Given the description of an element on the screen output the (x, y) to click on. 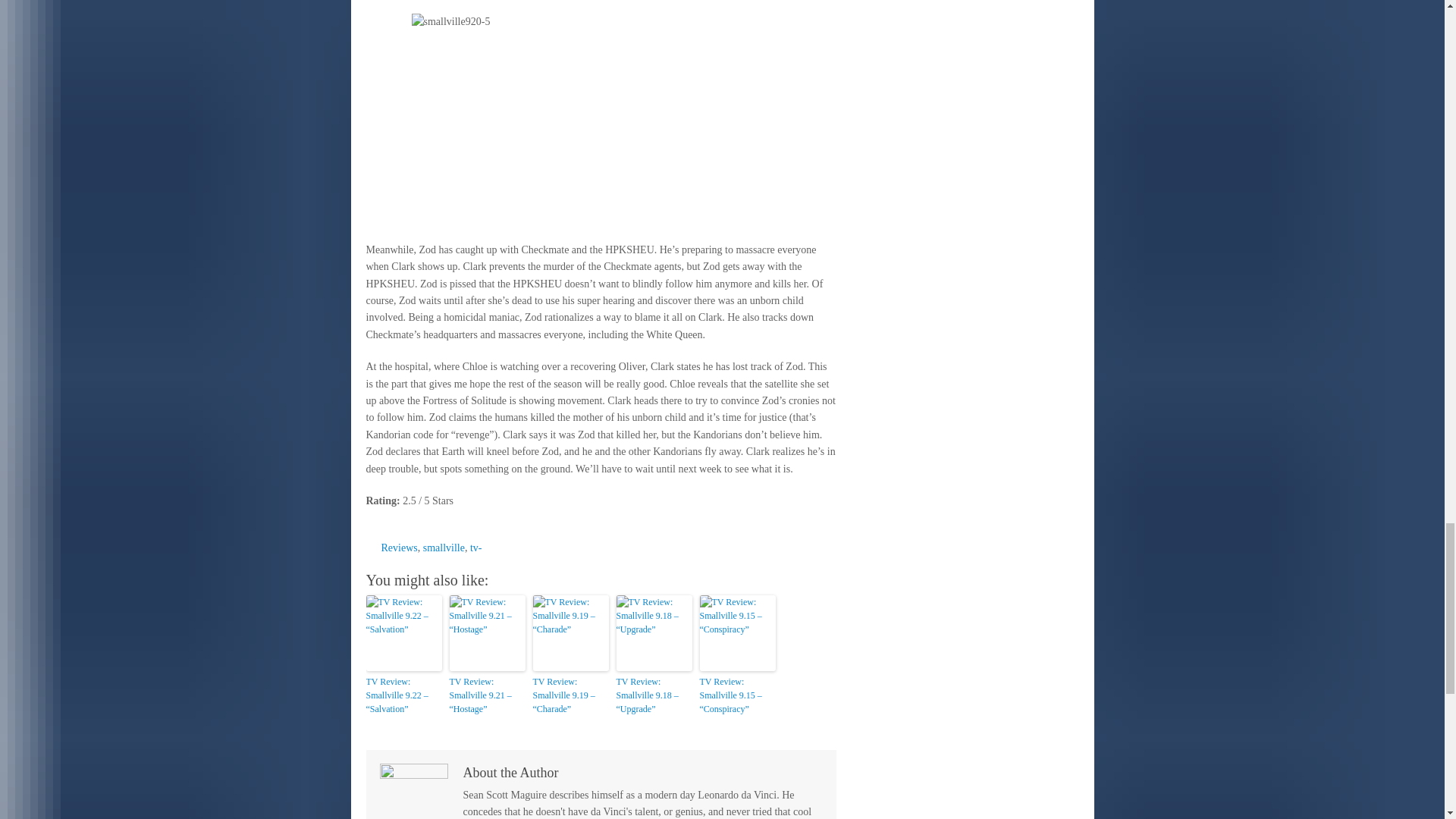
Reviews (398, 547)
tv- (475, 547)
smallville (443, 547)
smallville920-5 (600, 119)
